Given the description of an element on the screen output the (x, y) to click on. 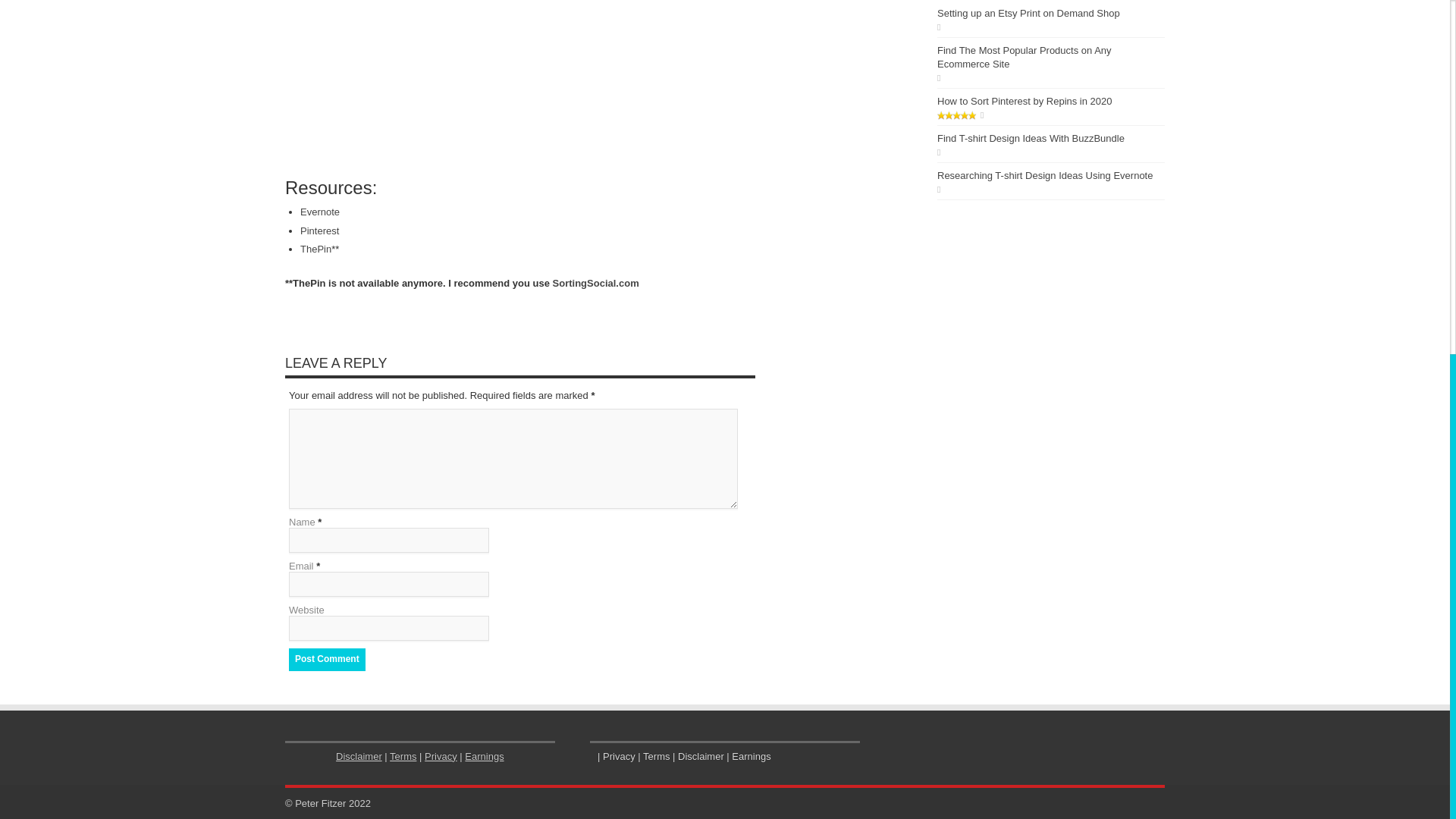
Post Comment (326, 659)
ThePin (315, 248)
Setting up an Etsy Print on Demand Shop (1028, 12)
Privacy (441, 755)
How to Sort Pinterest by Repins in 2020 (1024, 101)
Post Comment (326, 659)
Find The Most Popular Products on Any Ecommerce Site (1024, 57)
Disclaimer (358, 755)
Find T-shirt Design Ideas With BuzzBundle (1030, 138)
Pinterest (319, 230)
